Given the description of an element on the screen output the (x, y) to click on. 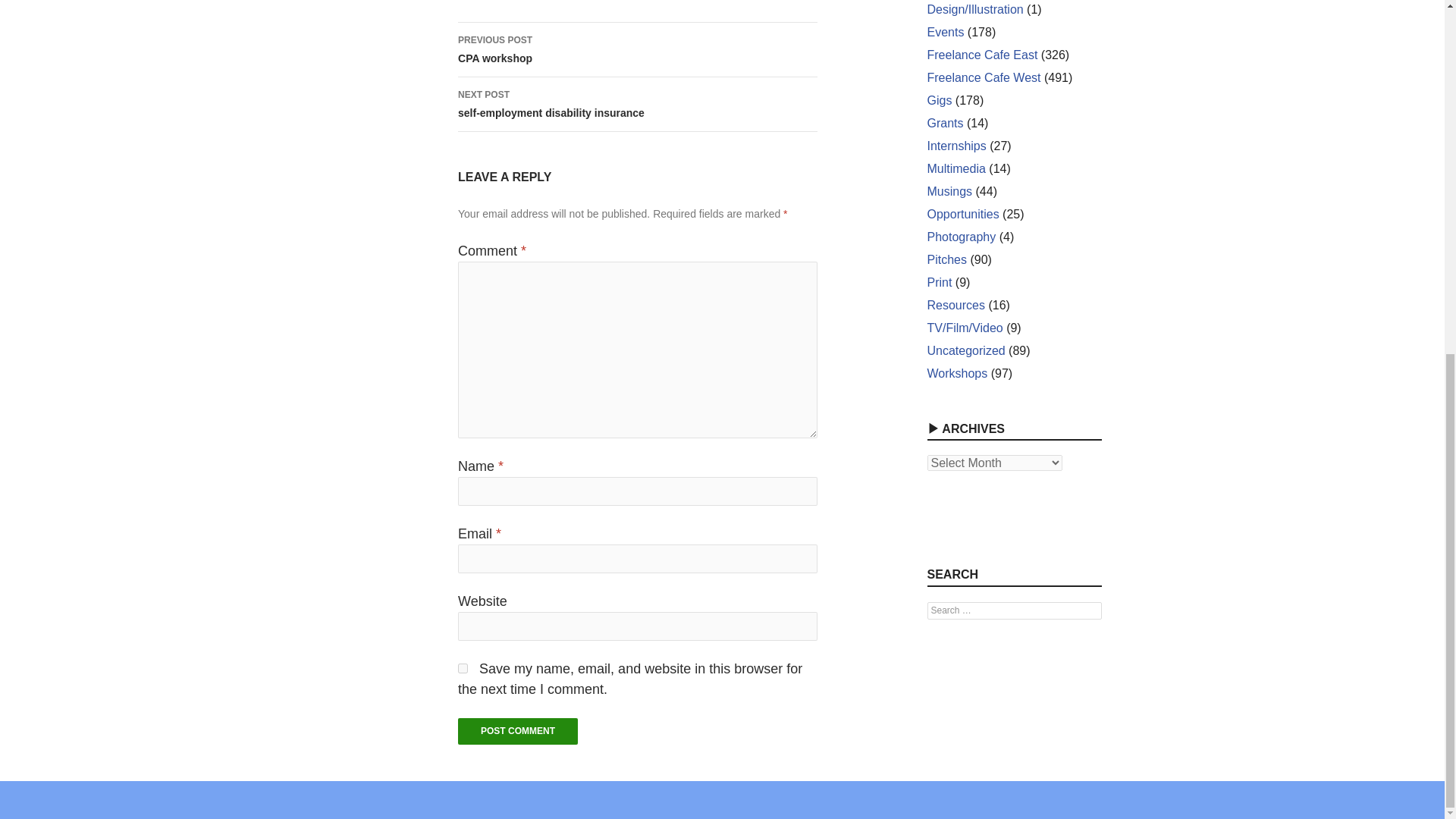
Internships (955, 145)
Post Comment (518, 731)
Print (939, 282)
Resources (955, 305)
Musings (637, 49)
Gigs (949, 191)
yes (939, 100)
Uncategorized (462, 668)
Pitches (965, 350)
